Given the description of an element on the screen output the (x, y) to click on. 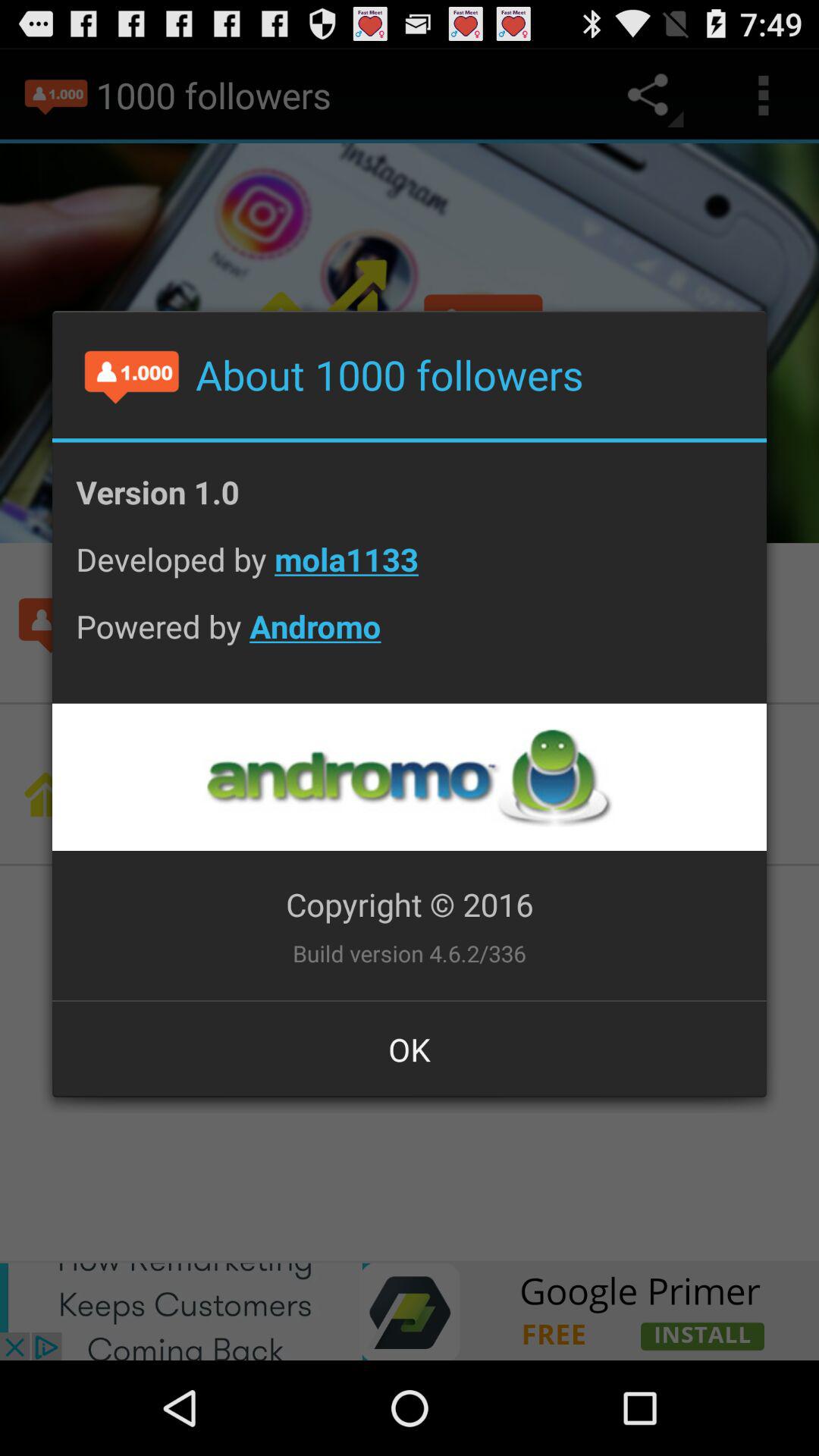
press app below developed by mola1133 (409, 637)
